Given the description of an element on the screen output the (x, y) to click on. 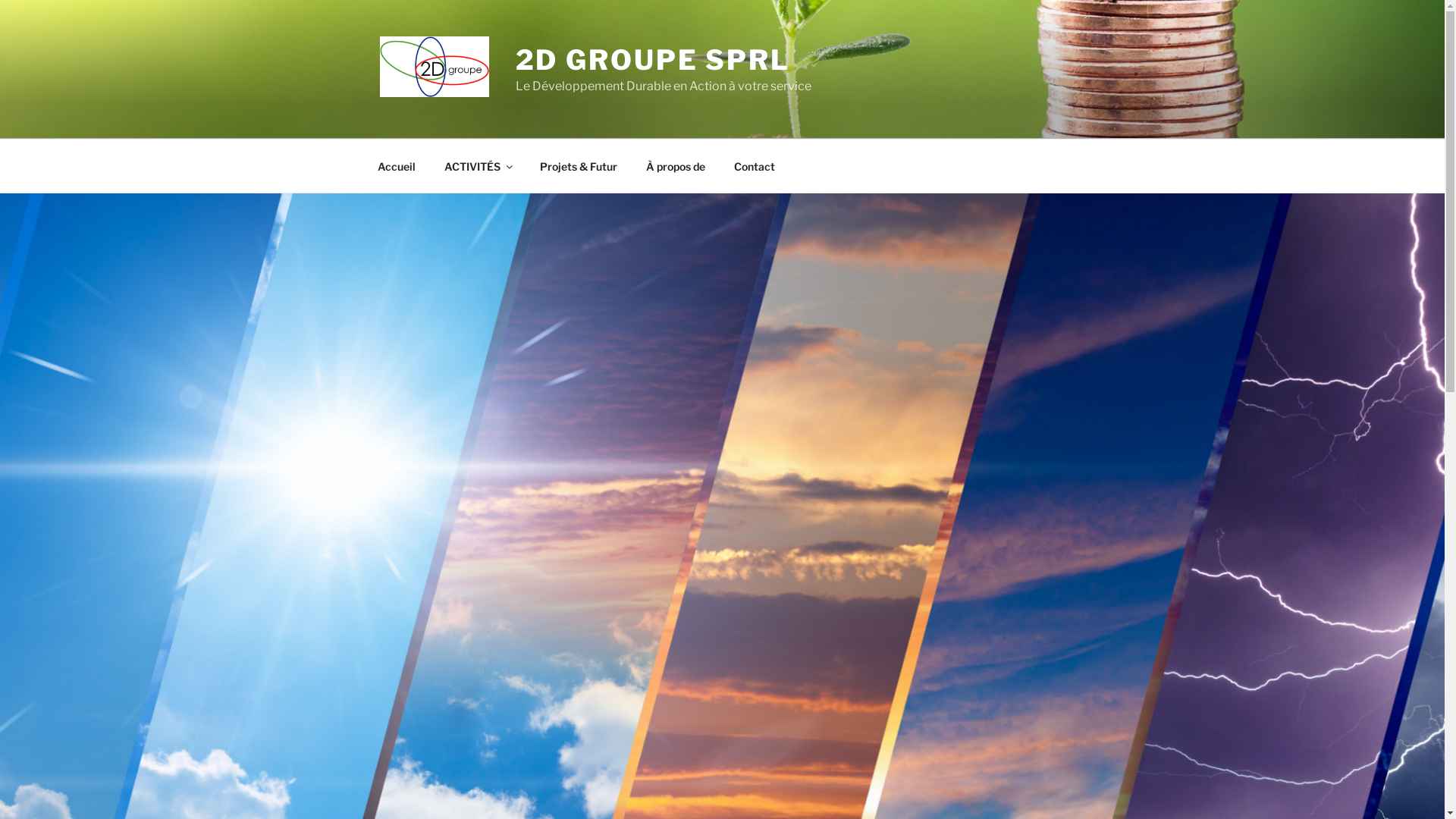
Accueil Element type: text (396, 165)
Aller au contenu principal Element type: text (0, 0)
Contact Element type: text (753, 165)
2D GROUPE SPRL Element type: text (652, 59)
Projets & Futur Element type: text (578, 165)
